Given the description of an element on the screen output the (x, y) to click on. 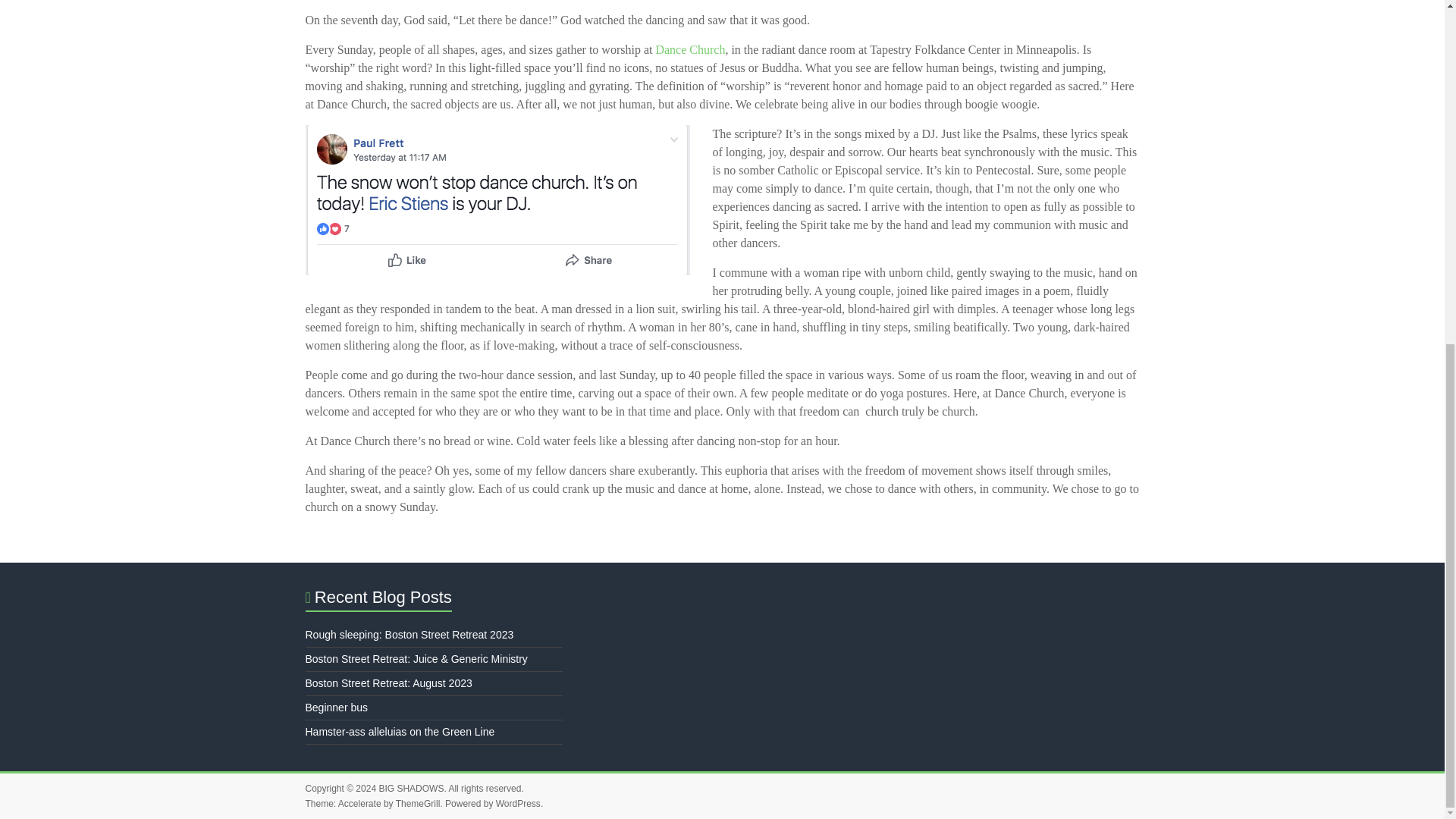
WordPress (518, 803)
Beginner bus (336, 707)
BIG SHADOWS (411, 787)
Dance Church (690, 49)
WordPress (518, 803)
Hamster-ass alleluias on the Green Line (399, 731)
Boston Street Retreat: August 2023 (387, 683)
Accelerate (359, 803)
Rough sleeping: Boston Street Retreat 2023 (408, 634)
BIG SHADOWS (411, 787)
